Given the description of an element on the screen output the (x, y) to click on. 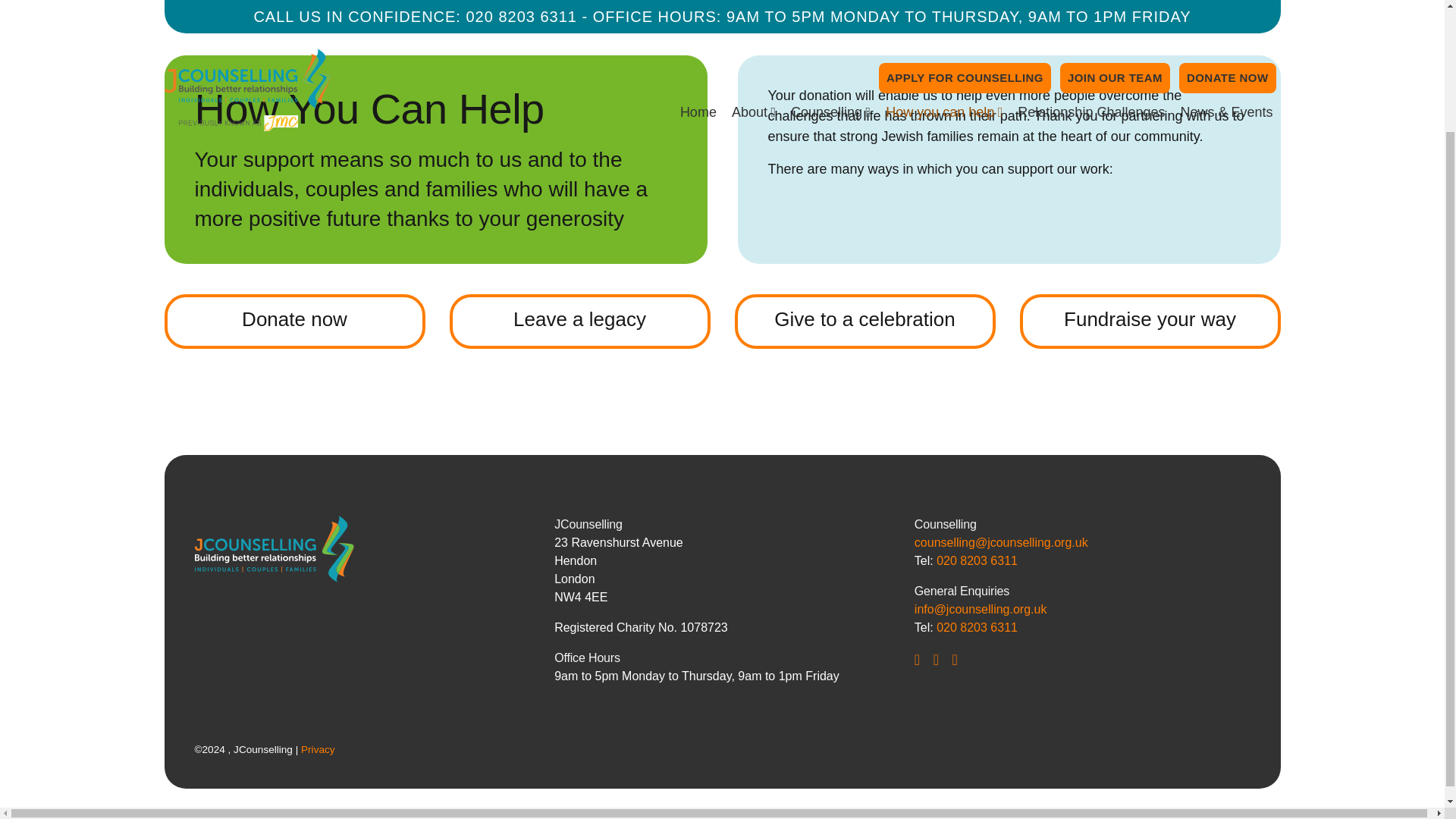
Donate now (294, 321)
Leave a legacy (578, 321)
Give to a celebration (863, 321)
JCounselling (202, 2)
